Given the description of an element on the screen output the (x, y) to click on. 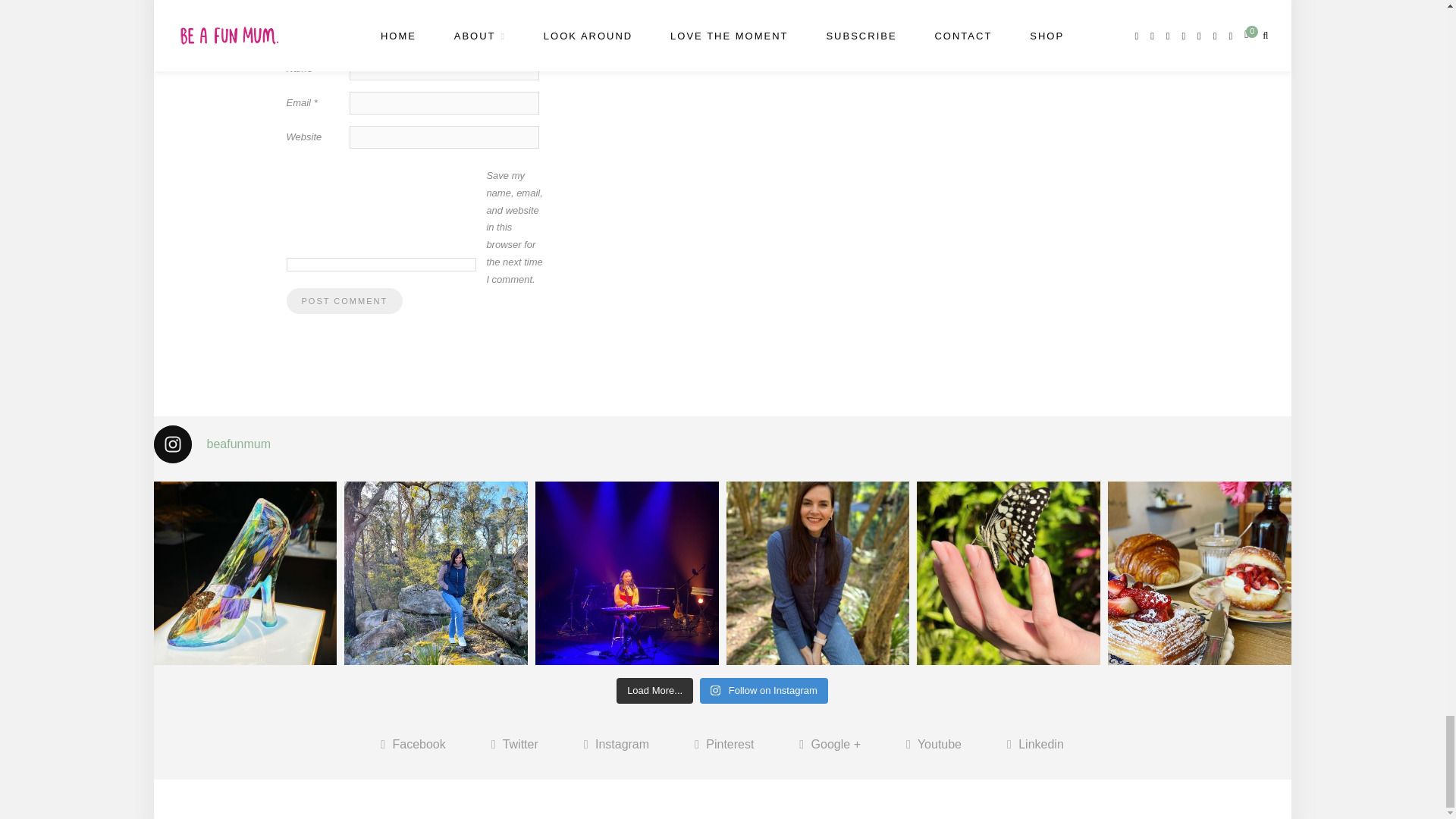
Post Comment (344, 300)
yes (381, 264)
